Given the description of an element on the screen output the (x, y) to click on. 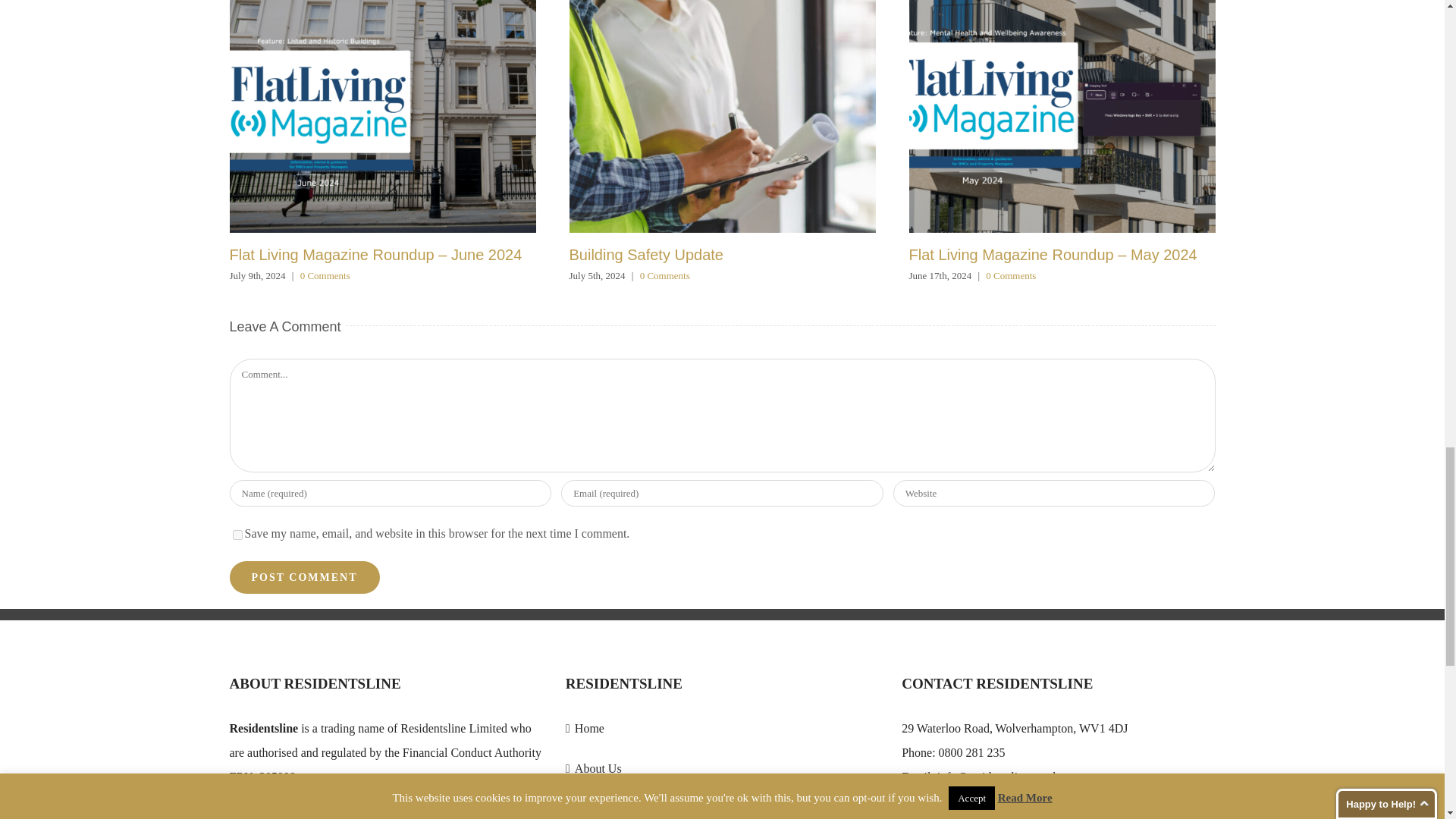
Building Safety Update (645, 254)
yes (236, 534)
Post Comment (303, 577)
